Given the description of an element on the screen output the (x, y) to click on. 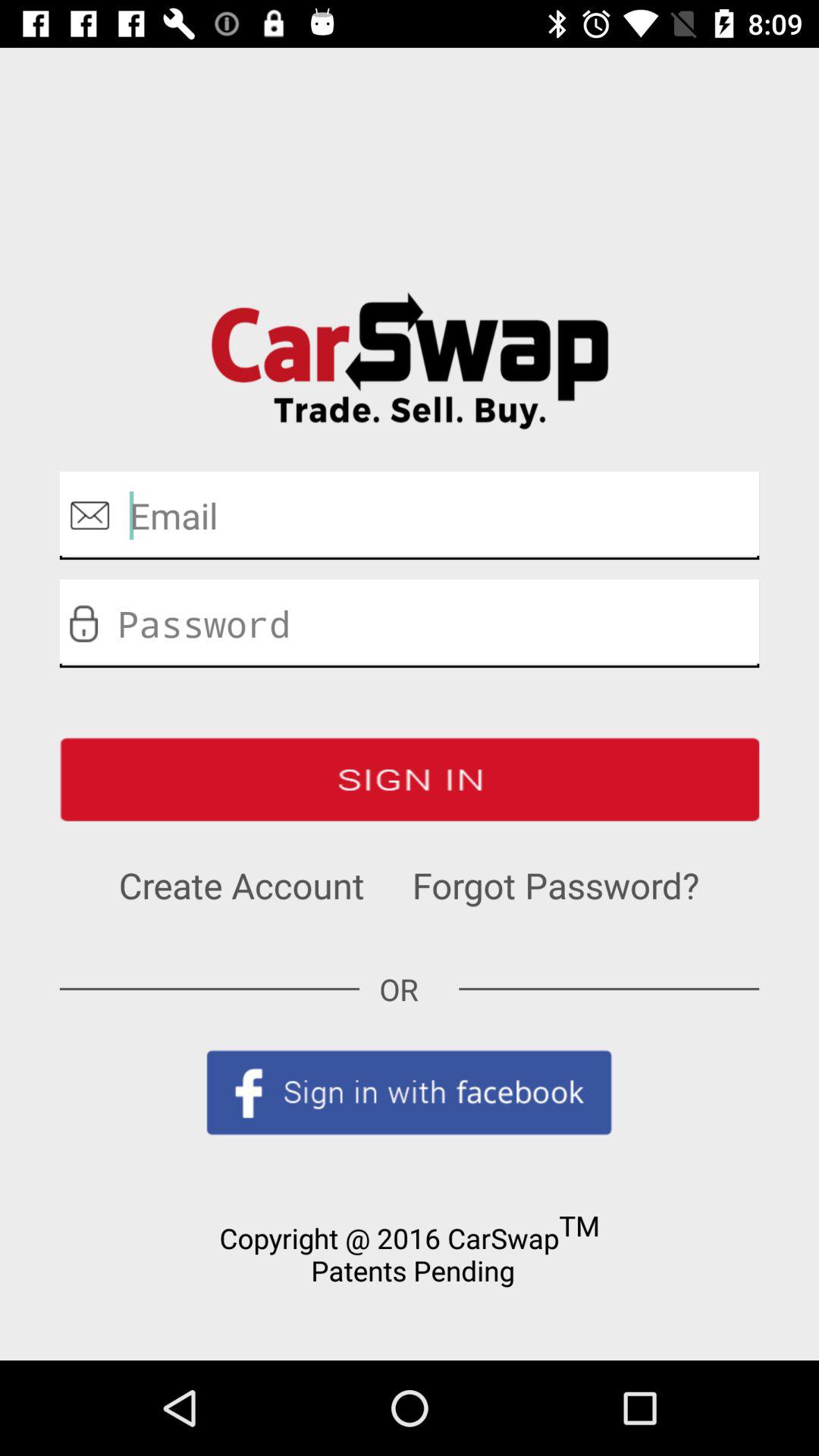
email entry box (409, 515)
